Given the description of an element on the screen output the (x, y) to click on. 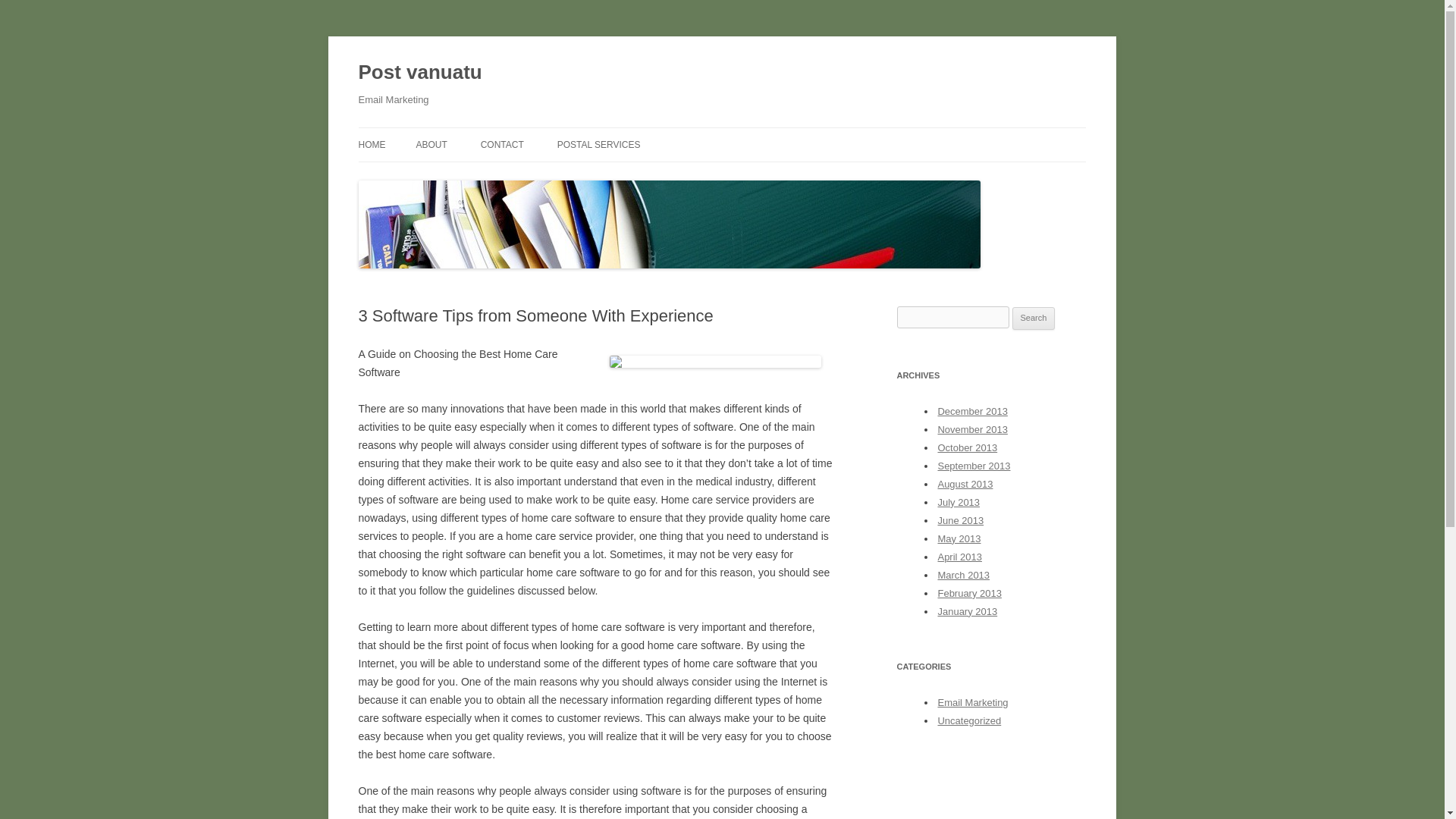
March 2013 (963, 574)
February 2013 (969, 593)
November 2013 (972, 429)
August 2013 (964, 483)
February 2013 (969, 593)
November 2013 (972, 429)
April 2013 (959, 556)
POSTAL SERVICES (598, 144)
Uncategorized (969, 720)
